Given the description of an element on the screen output the (x, y) to click on. 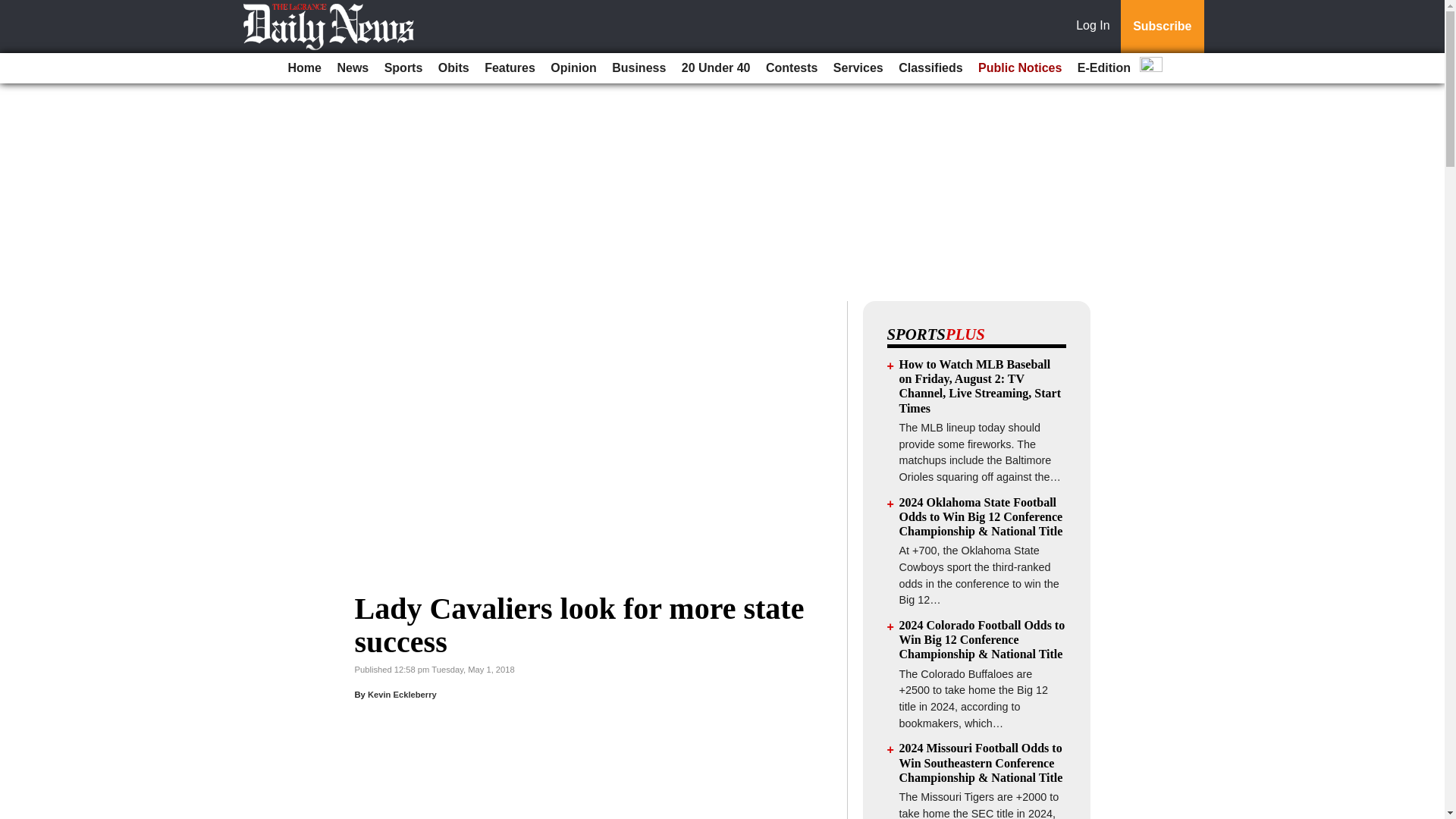
Contests (792, 68)
Home (304, 68)
Services (858, 68)
Features (510, 68)
Kevin Eckleberry (402, 694)
Public Notices (1019, 68)
Go (13, 9)
Business (638, 68)
20 Under 40 (716, 68)
Subscribe (1162, 26)
News (352, 68)
Obits (454, 68)
E-Edition (1104, 68)
Classifieds (930, 68)
